Given the description of an element on the screen output the (x, y) to click on. 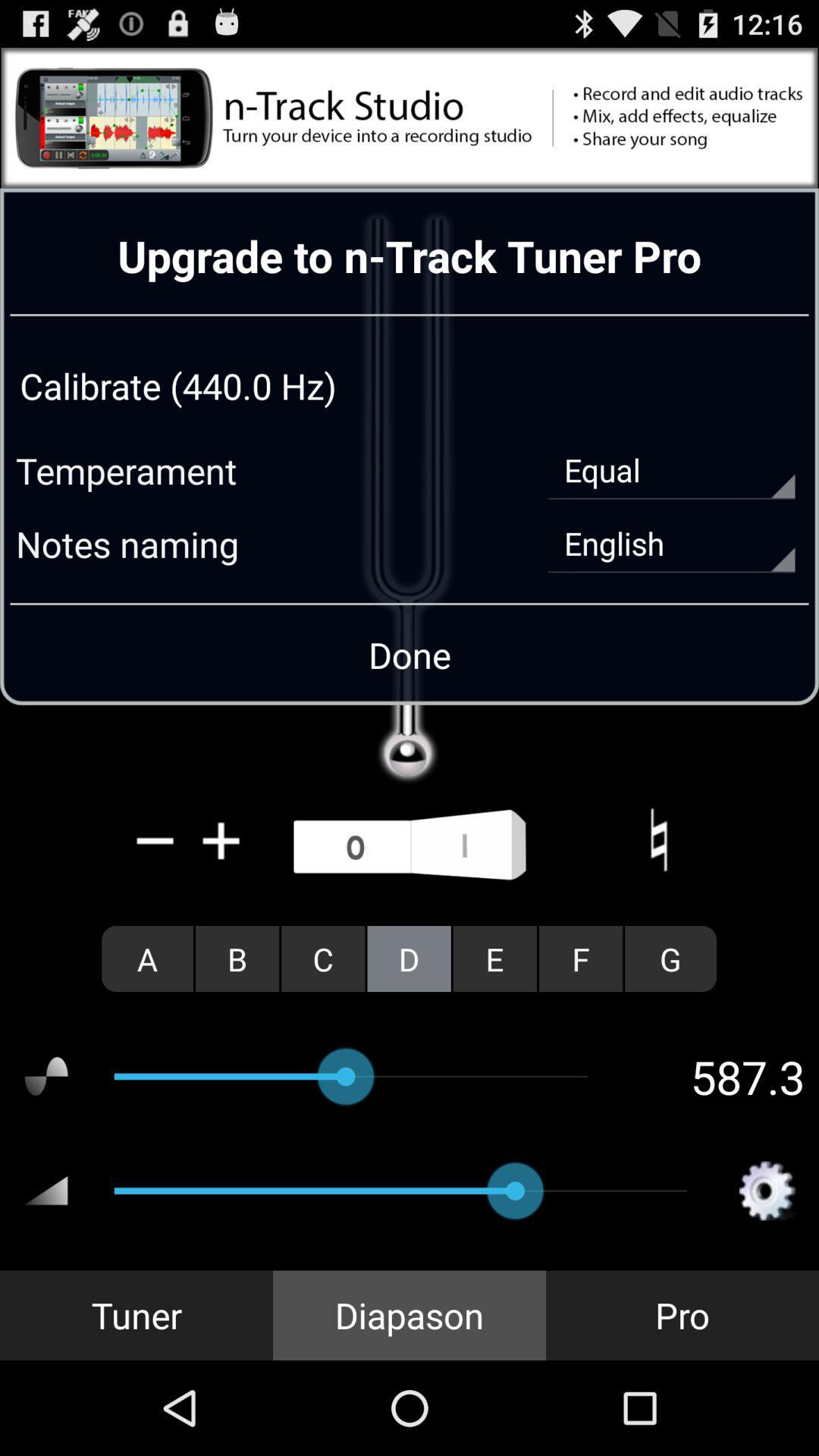
turn off radio button to the right of a icon (237, 958)
